Given the description of an element on the screen output the (x, y) to click on. 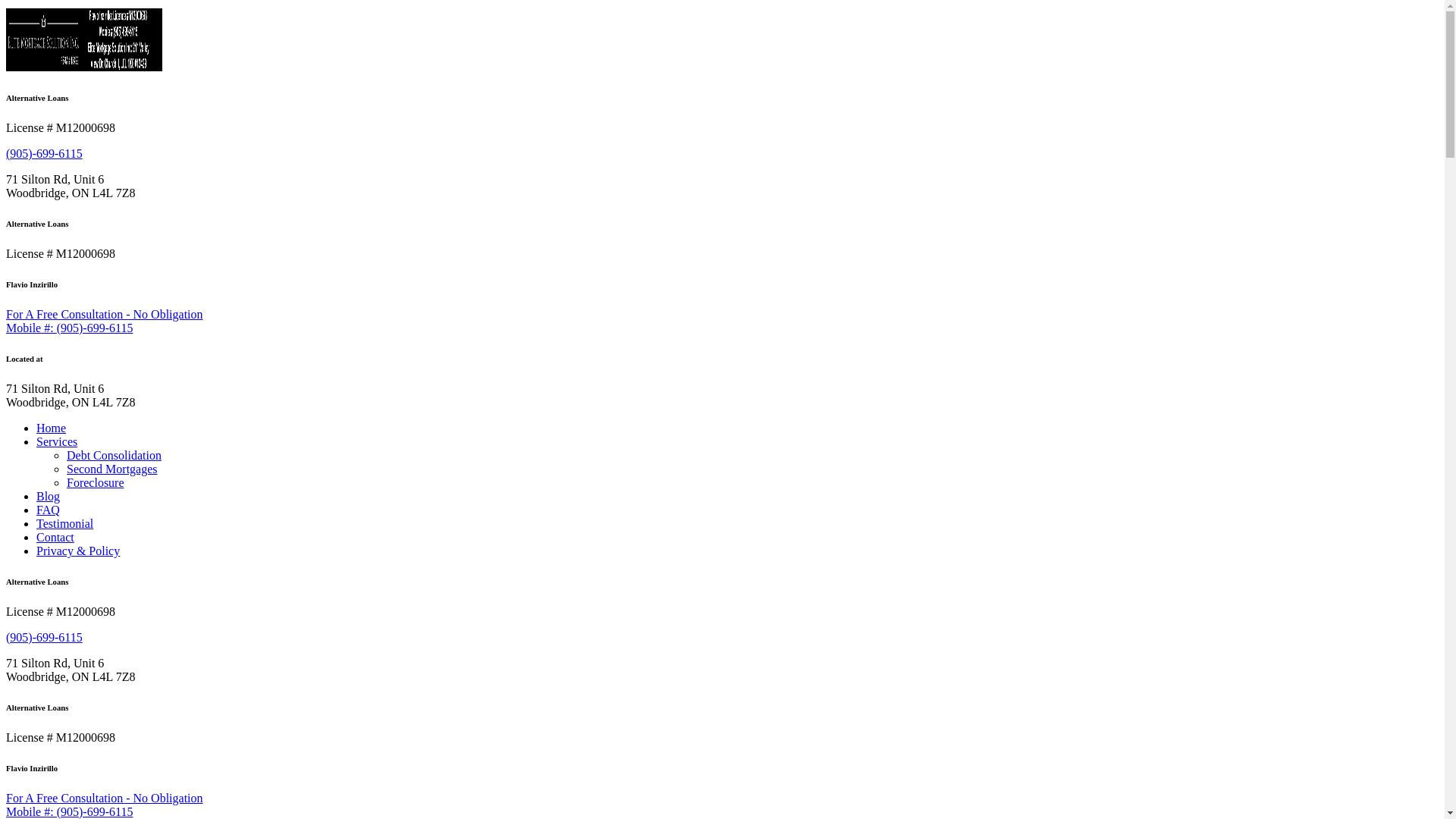
Services Element type: text (56, 441)
Alternative Loan Element type: hover (84, 66)
FAQ Element type: text (47, 509)
Blog Element type: text (47, 495)
Second Mortgages Element type: text (111, 468)
Privacy & Policy Element type: text (77, 550)
(905)-699-6115 Element type: text (44, 636)
Home Element type: text (50, 427)
Contact Element type: text (55, 536)
Foreclosure Element type: text (95, 482)
(905)-699-6115 Element type: text (44, 153)
Debt Consolidation Element type: text (113, 454)
Testimonial Element type: text (64, 523)
